Given the description of an element on the screen output the (x, y) to click on. 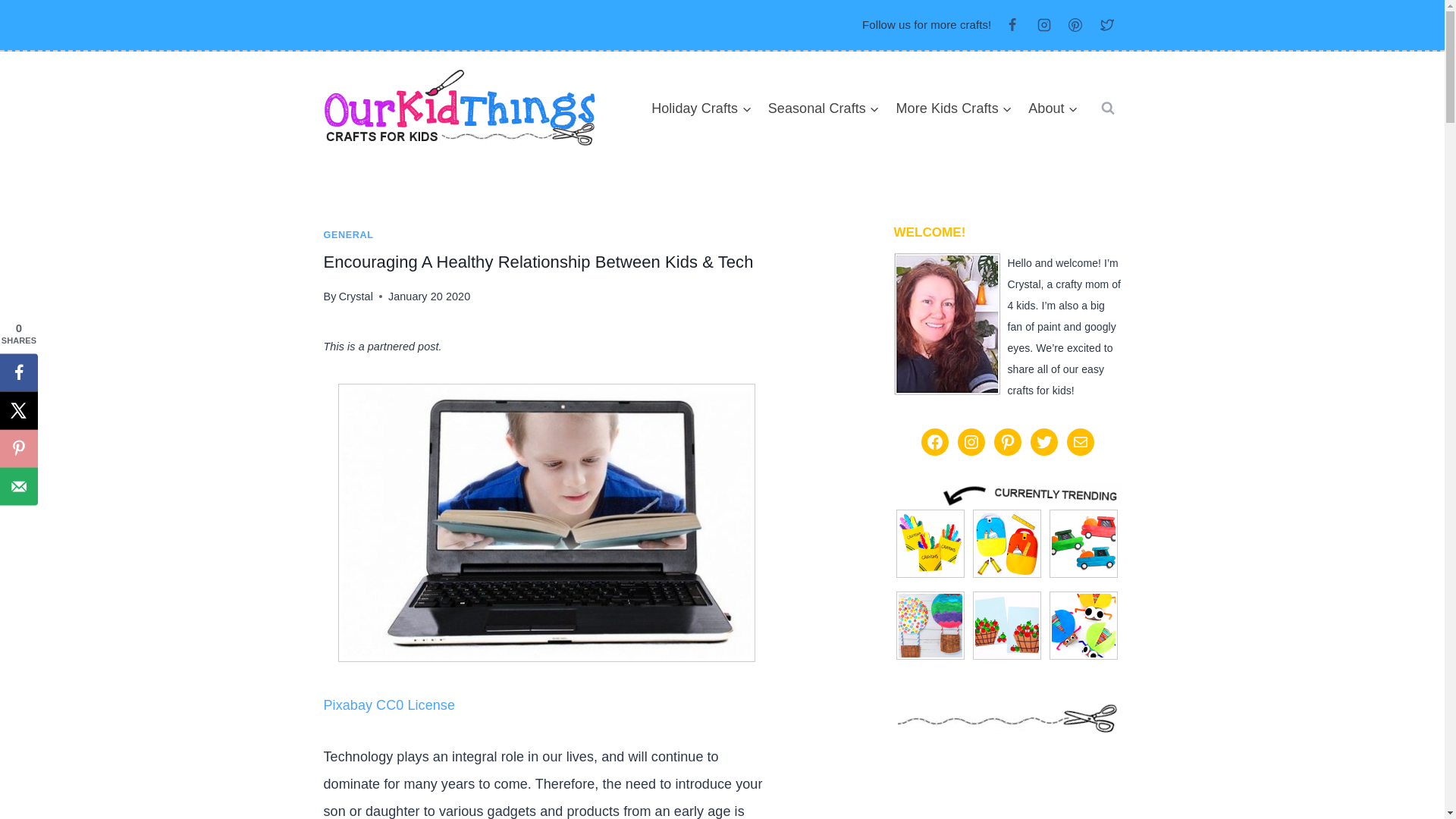
Send over email (18, 485)
Seasonal Crafts (824, 108)
Share on Facebook (18, 371)
Holiday Crafts (701, 108)
More Kids Crafts (954, 108)
Crafts by Season (824, 108)
Crafts by Holiday (701, 108)
Save to Pinterest (18, 447)
More Kid Crafts (954, 108)
Share on X (18, 410)
